Given the description of an element on the screen output the (x, y) to click on. 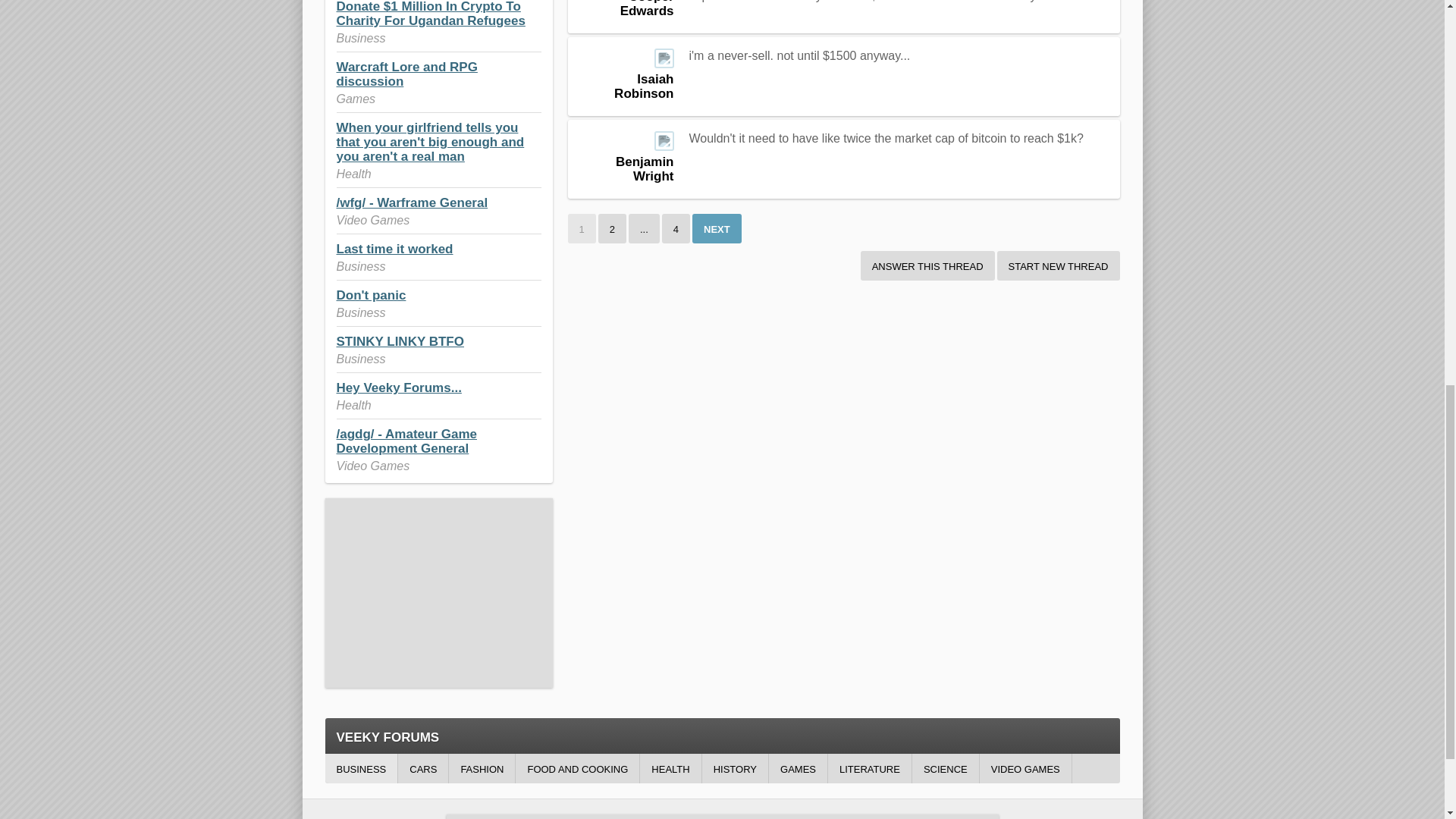
STINKY LINKY BTFO (400, 341)
Don't panic (371, 295)
Hey Veeky Forums... (398, 387)
Warcraft Lore and RPG discussion (406, 73)
... (643, 228)
Last time it worked (394, 248)
NEXT (717, 228)
4 (676, 228)
START NEW THREAD (1058, 265)
Warcraft Lore and RPG discussion (406, 73)
ANSWER THIS THREAD (927, 265)
2 (612, 228)
